Given the description of an element on the screen output the (x, y) to click on. 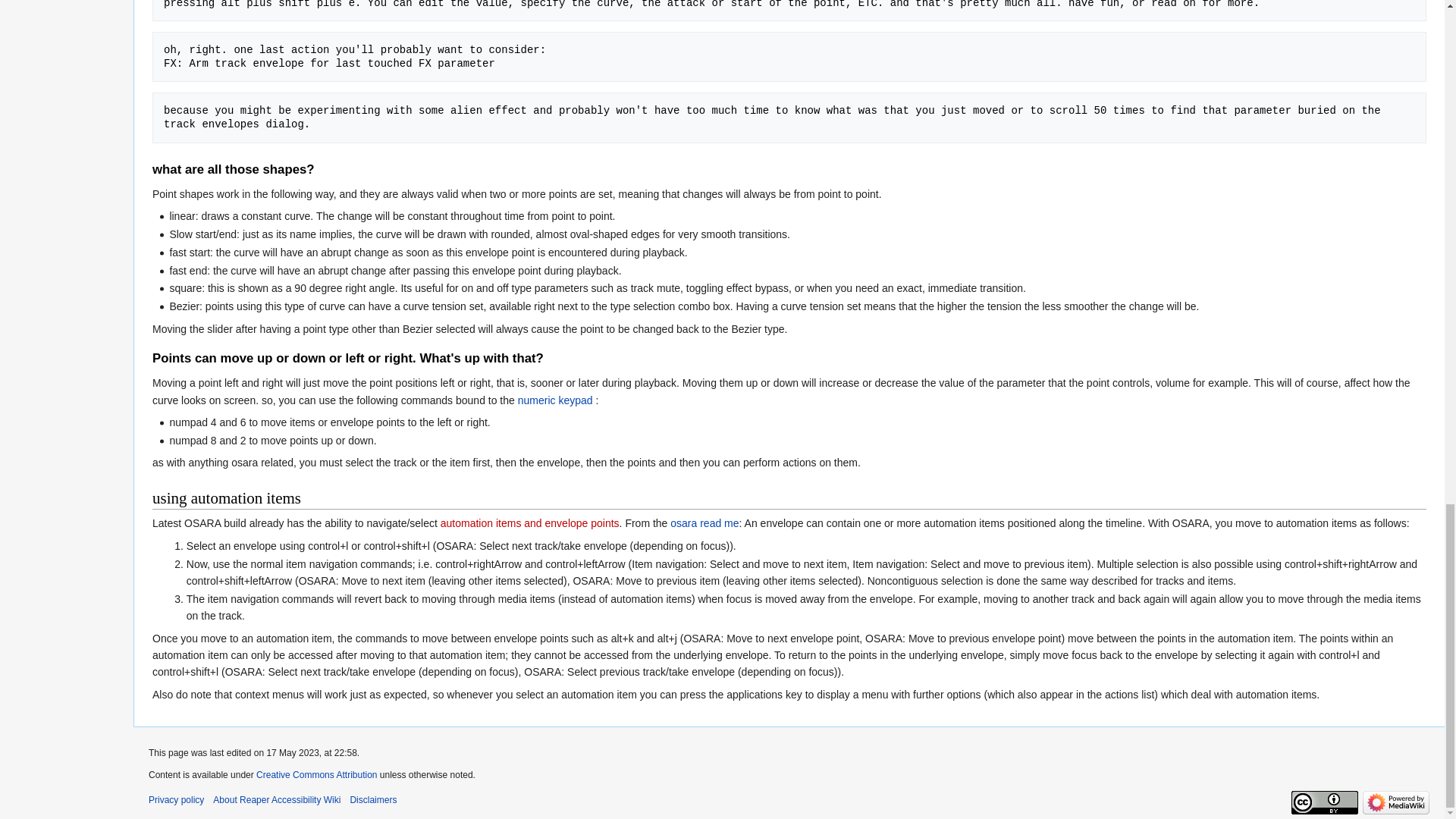
Creative Commons Attribution (316, 774)
osara read me (703, 522)
Useful Links and Resources (555, 399)
automation items and envelope points (530, 522)
Privacy policy (175, 799)
numeric keypad (555, 399)
OSARA readme (703, 522)
